Given the description of an element on the screen output the (x, y) to click on. 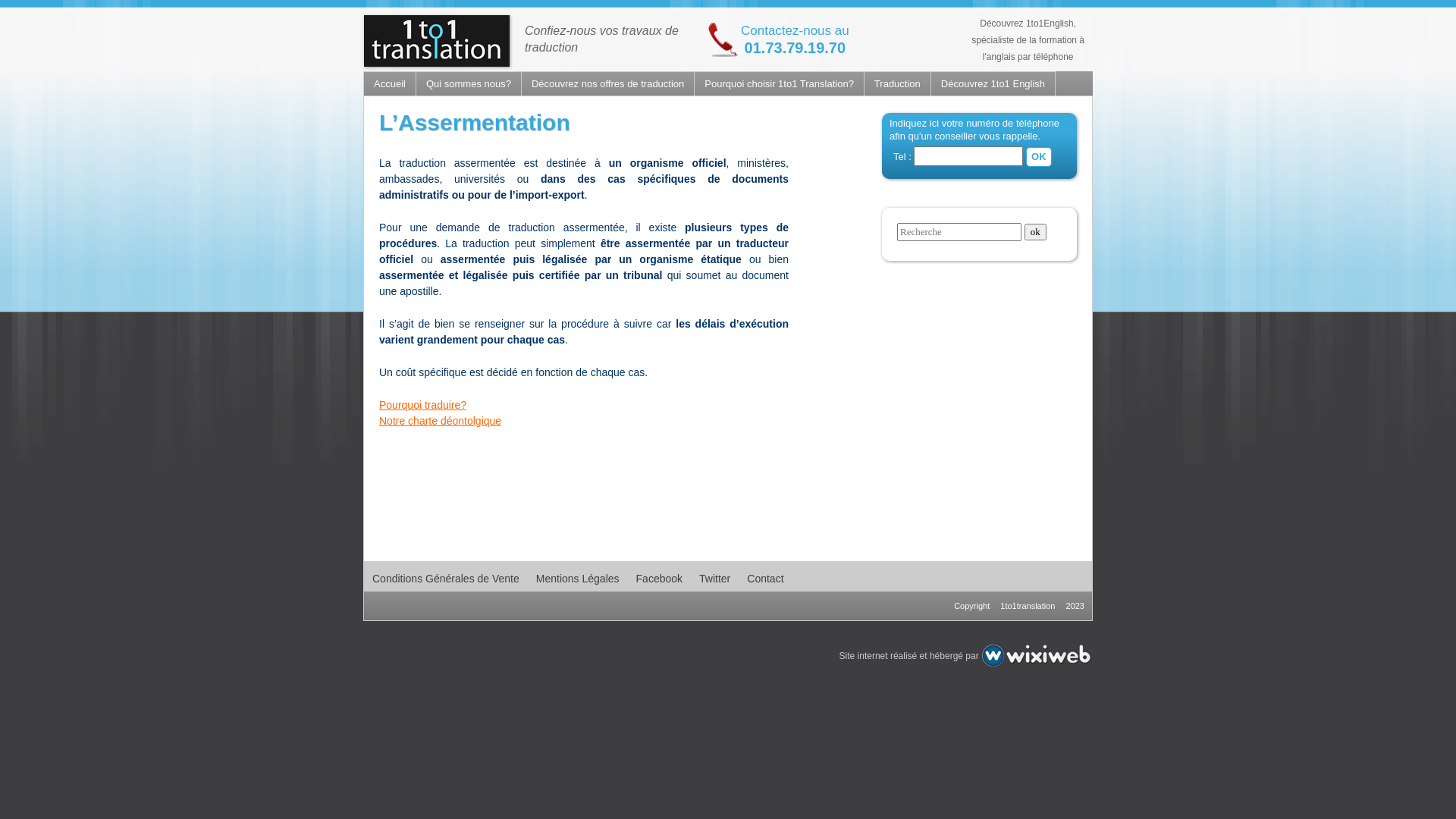
Qui sommes nous? Element type: text (467, 83)
Twitter Element type: text (714, 578)
Accueil Element type: text (389, 83)
Traduction Element type: text (896, 83)
Contact Element type: text (764, 578)
Pourquoi choisir 1to1 Translation? Element type: text (778, 83)
1to1translation Element type: text (1027, 606)
Site internet Element type: text (863, 655)
1to1translation Element type: hover (436, 62)
Facebook Element type: text (658, 578)
Pourquoi traduire? Element type: text (422, 404)
ok Element type: text (1035, 230)
